Given the description of an element on the screen output the (x, y) to click on. 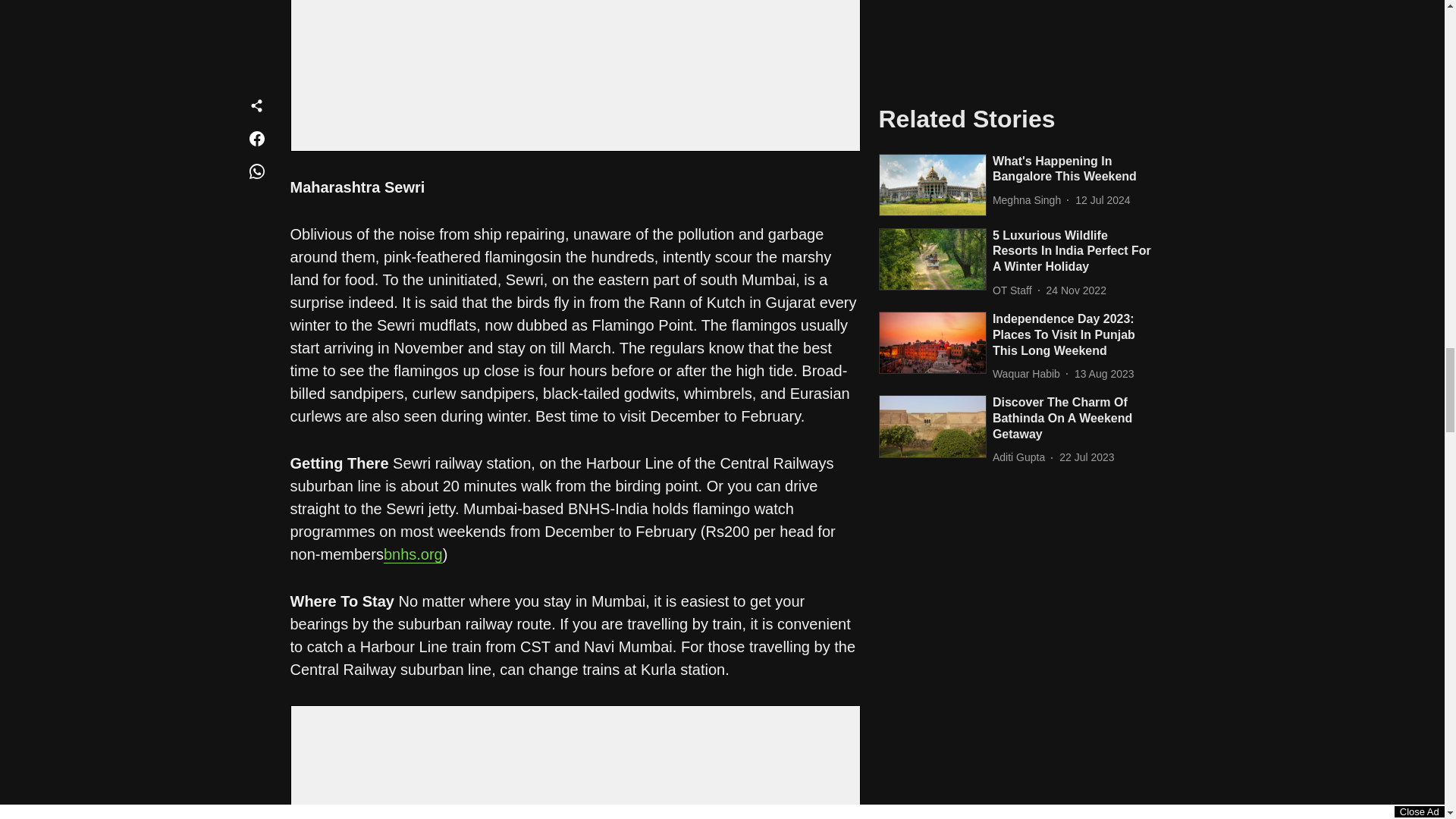
bnhs.org (413, 554)
